Given the description of an element on the screen output the (x, y) to click on. 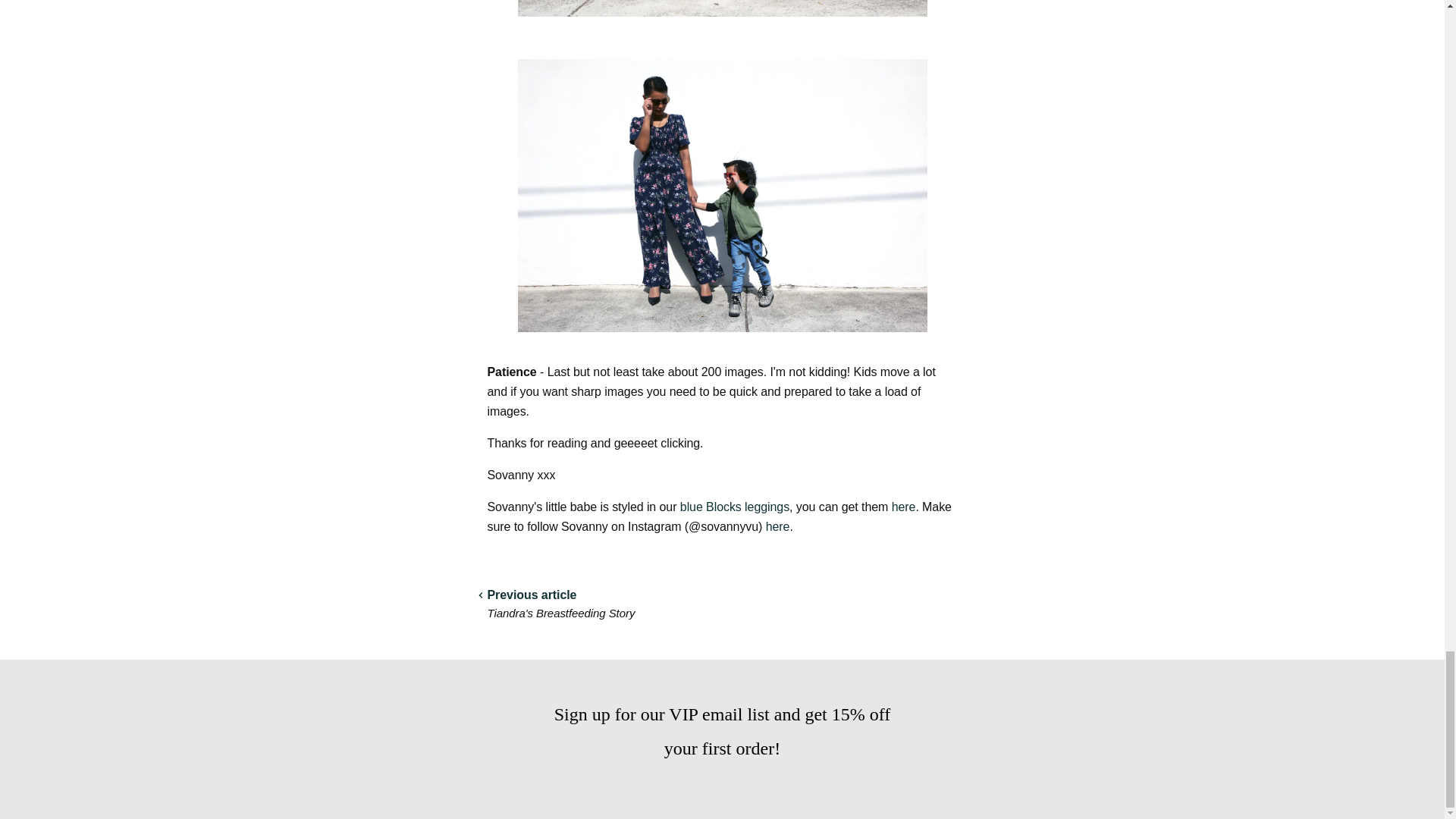
here (777, 526)
blue Blocks leggings (734, 506)
here (903, 506)
